Given the description of an element on the screen output the (x, y) to click on. 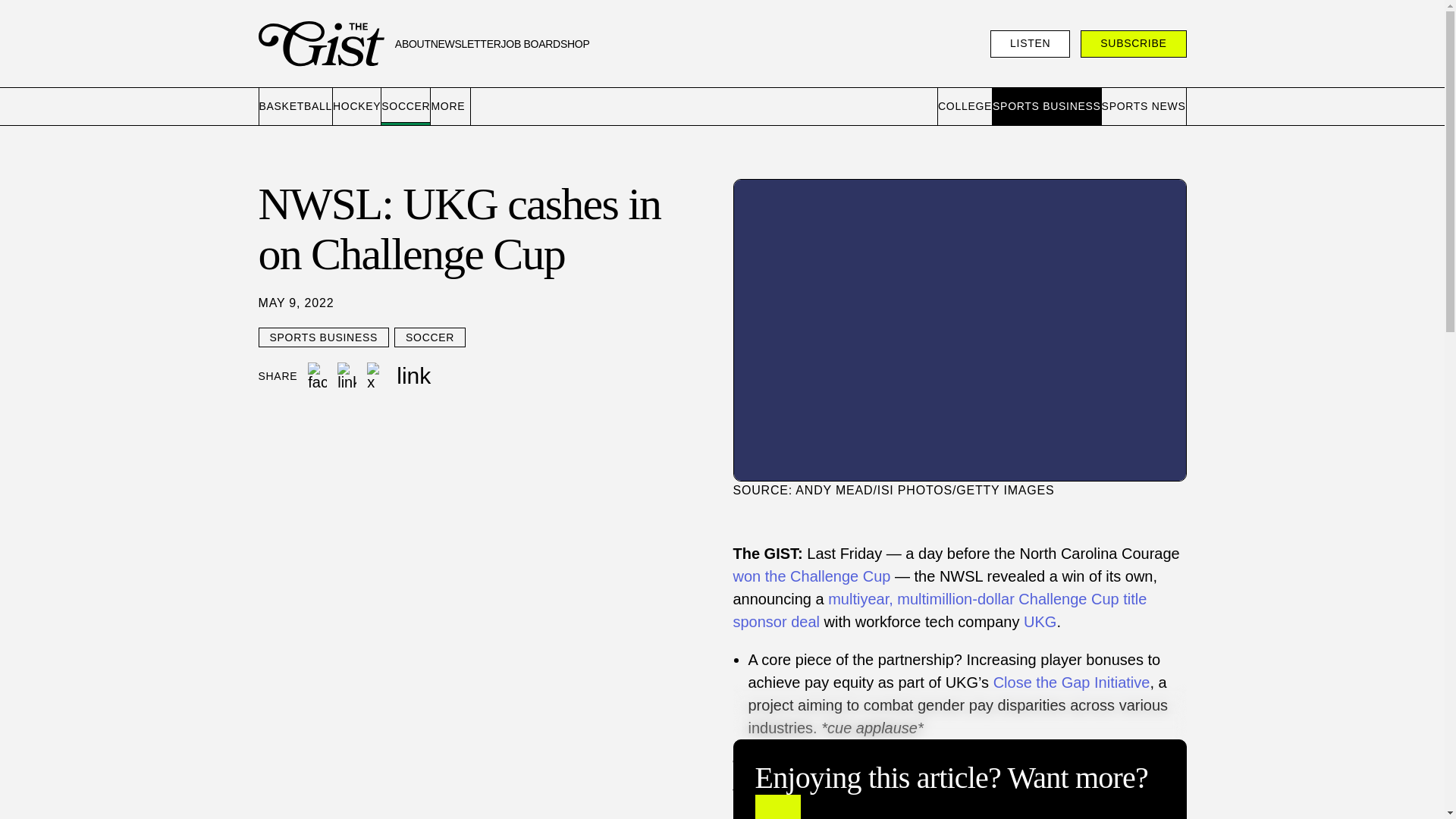
BASKETBALL (296, 106)
JOB BOARD (530, 44)
SOCCER (405, 106)
SUBSCRIBE (1133, 43)
NEWSLETTER (465, 44)
LISTEN (1030, 43)
HOCKEY (357, 106)
MORE (450, 106)
